Given the description of an element on the screen output the (x, y) to click on. 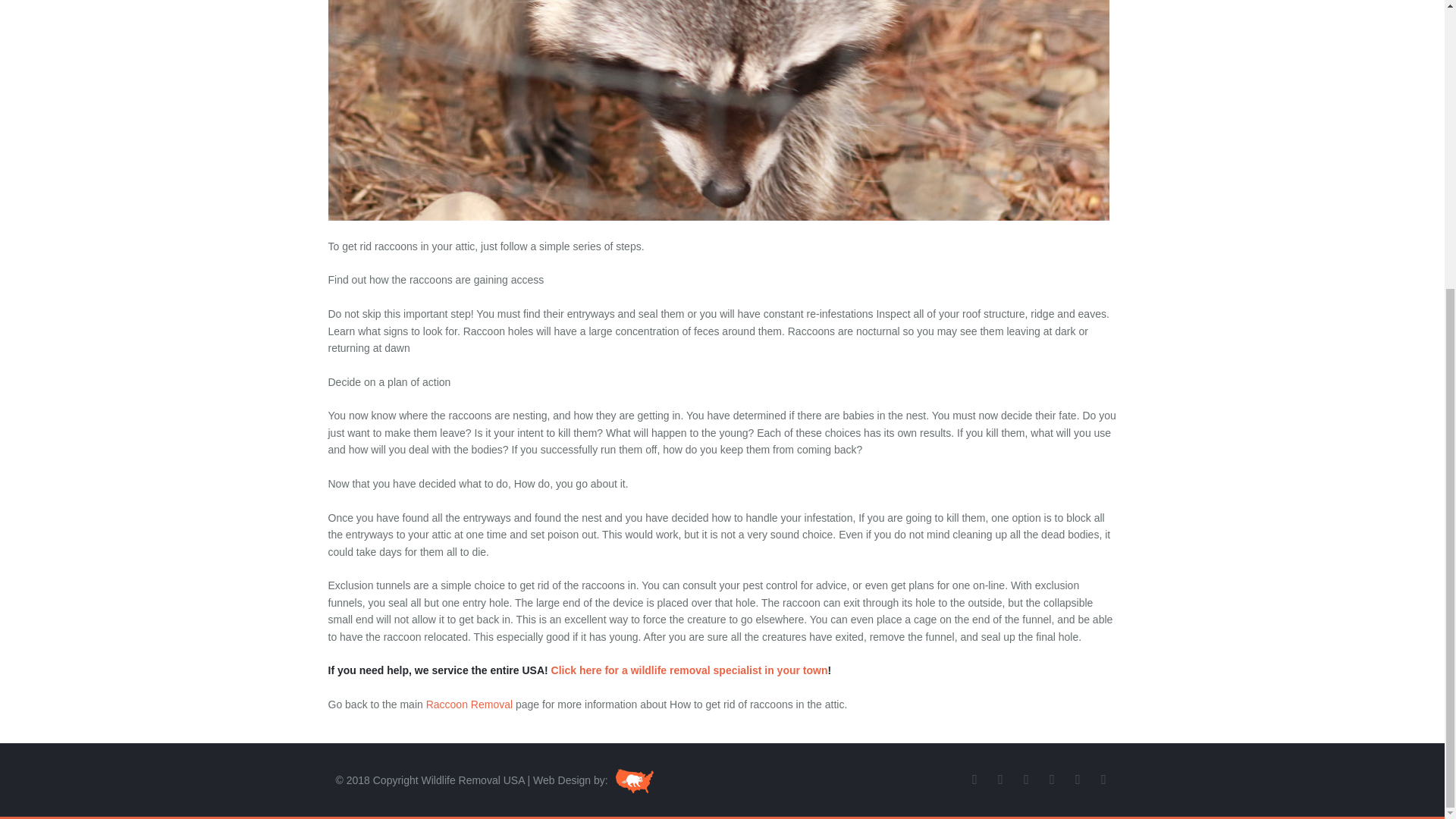
Click here for a wildlife removal specialist in your town (689, 670)
Raccoon Removal (469, 704)
